Given the description of an element on the screen output the (x, y) to click on. 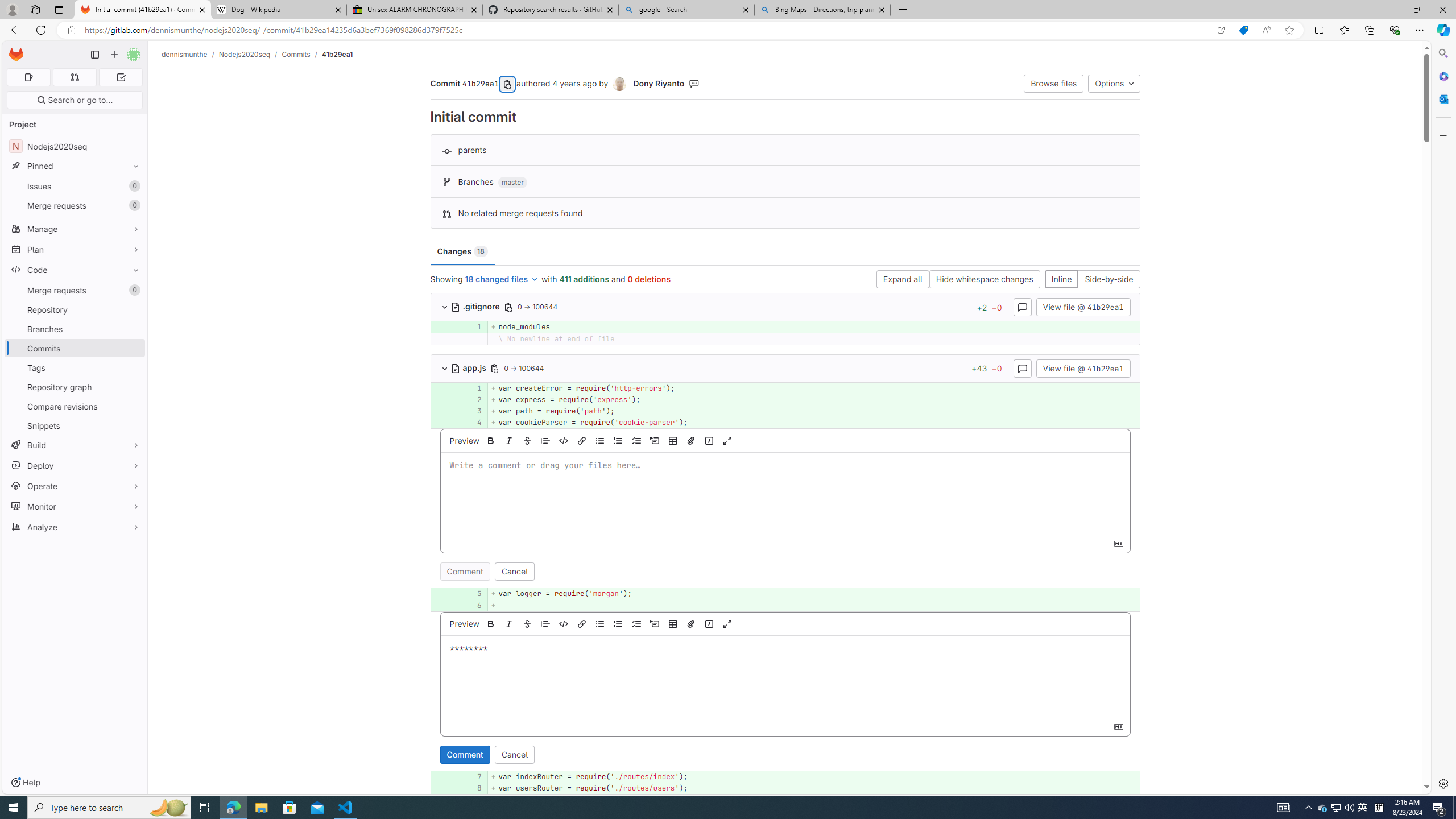
Add a quick action (708, 623)
AutomationID: 4a68969ef8e858229267b842dedf42ab5dde4d50_0_8 (785, 788)
dennismunthe (184, 53)
+ var express = require('express');  (813, 399)
Class: s16 gl-icon gl-button-icon  (1117, 726)
Options (1113, 83)
AutomationID: 4a68969ef8e858229267b842dedf42ab5dde4d50_0_1 (785, 387)
3 (471, 410)
master (512, 182)
Inline (1060, 279)
Build (74, 444)
Comment (464, 754)
7 (471, 776)
Analyze (74, 526)
